Given the description of an element on the screen output the (x, y) to click on. 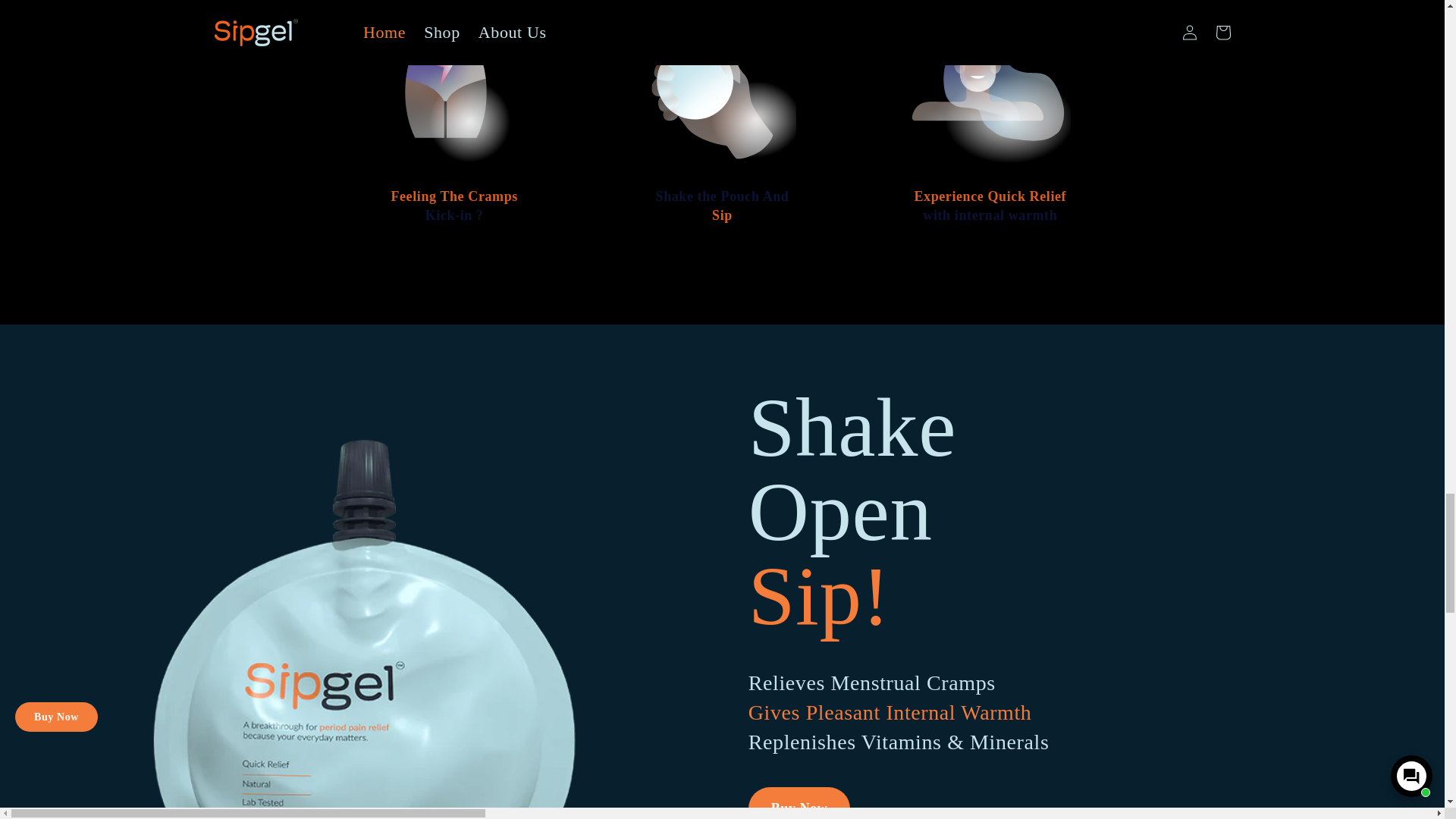
Buy Now (799, 803)
